Given the description of an element on the screen output the (x, y) to click on. 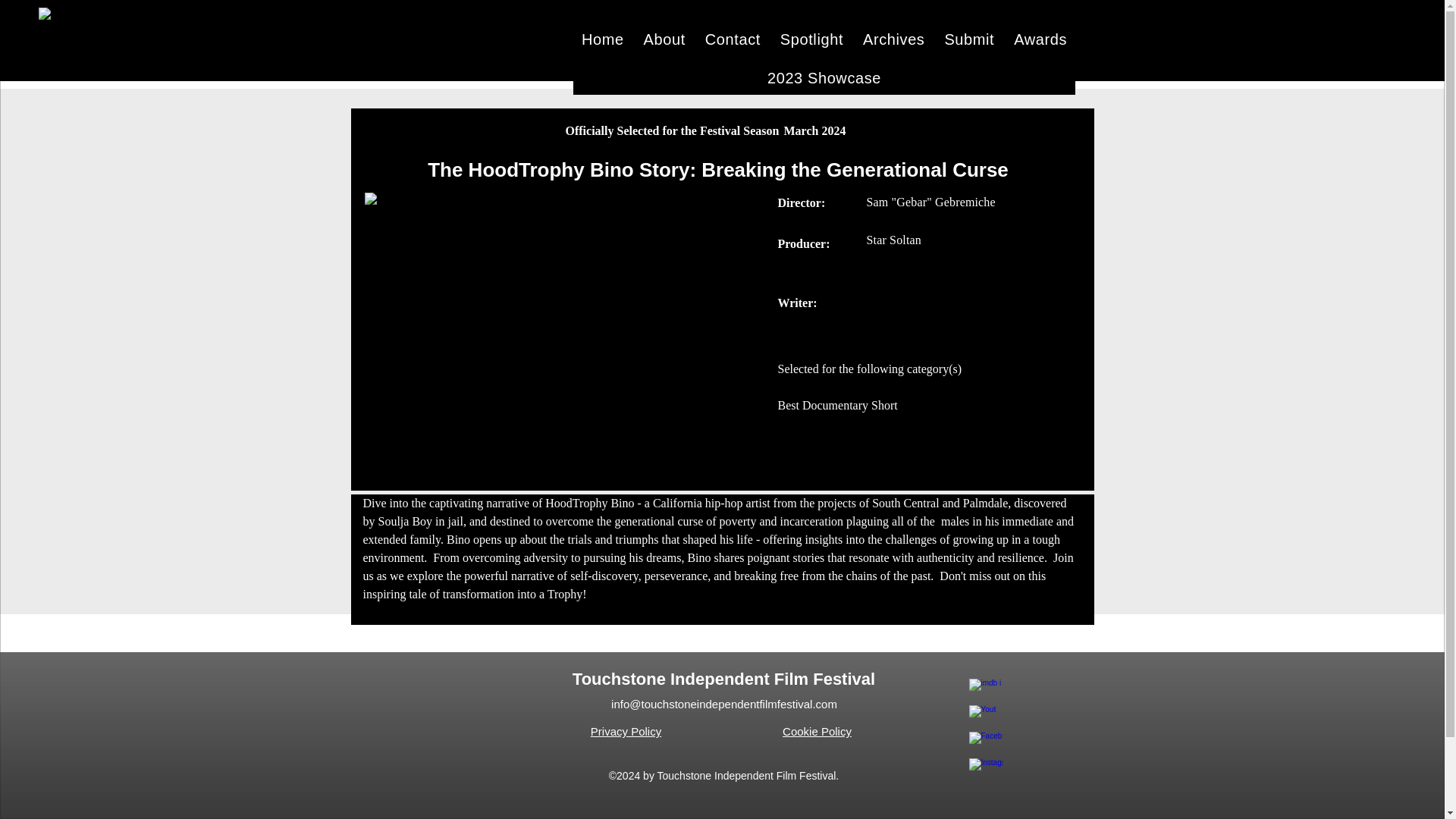
Awards (1040, 39)
Spotlight (811, 39)
About (664, 39)
Home (602, 39)
Submit (969, 39)
Contact (732, 39)
Privacy Policy (626, 730)
2023 Showcase (824, 78)
Archives (893, 39)
TIFF1142 Cover photo.jpg (562, 310)
